Given the description of an element on the screen output the (x, y) to click on. 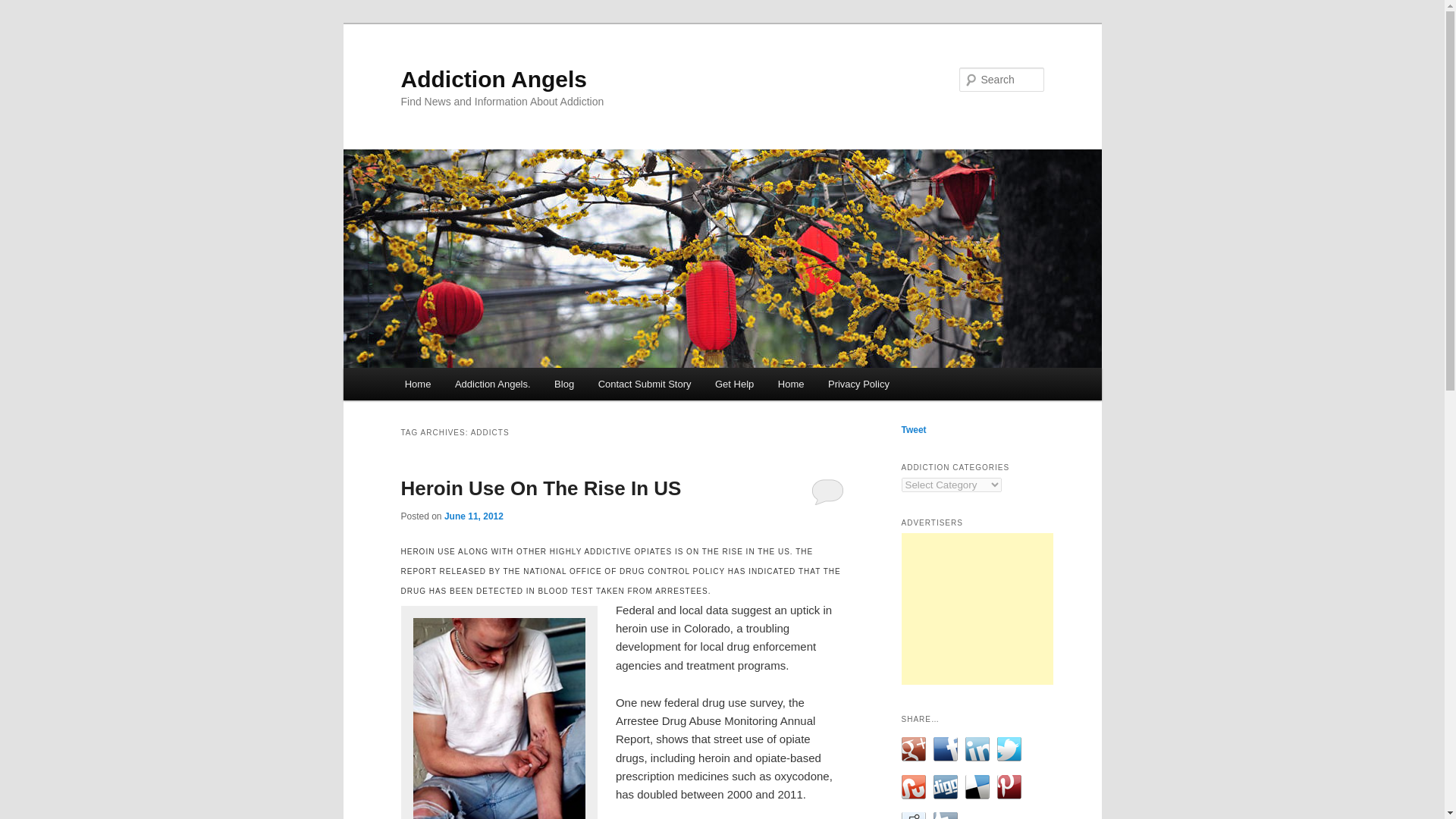
June 11, 2012 (473, 516)
Blog (563, 383)
Get Help (734, 383)
Addiction Angels (493, 78)
Tweet (913, 429)
Addiction Angels. (491, 383)
Home (417, 383)
Contact Submit Story (644, 383)
Advertisement (976, 608)
Search (24, 8)
Privacy Policy (858, 383)
1:39 am (473, 516)
Heroin Use On The Rise In US (540, 487)
Home (790, 383)
